Given the description of an element on the screen output the (x, y) to click on. 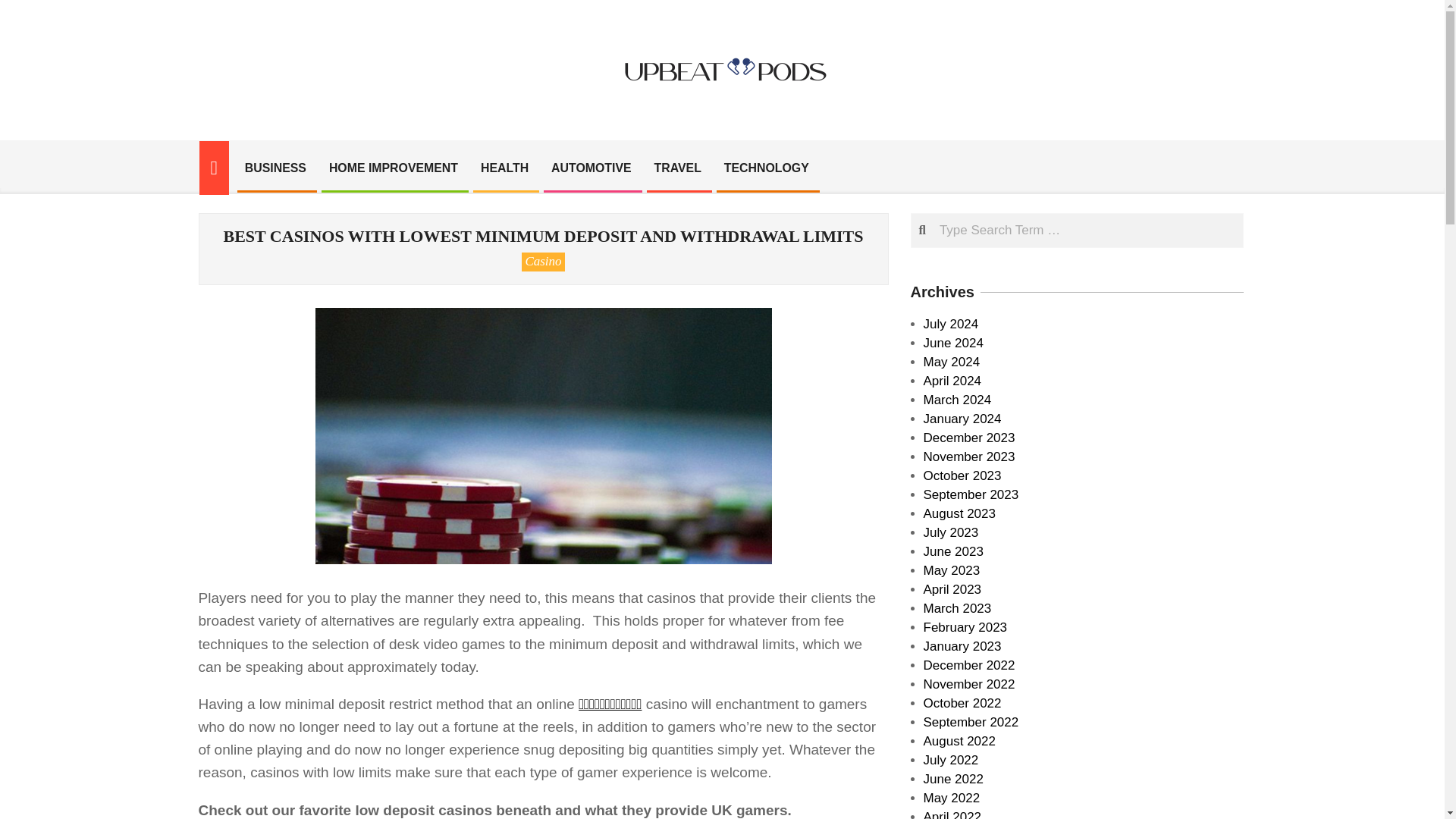
April 2023 (952, 589)
June 2023 (953, 551)
BUSINESS (274, 167)
HOME IMPROVEMENT (392, 167)
October 2023 (962, 475)
Casino (542, 261)
TRAVEL (678, 167)
January 2023 (962, 646)
May 2023 (951, 570)
August 2022 (959, 740)
November 2022 (968, 684)
TECHNOLOGY (767, 167)
June 2024 (953, 342)
January 2024 (962, 418)
HEALTH (504, 167)
